Given the description of an element on the screen output the (x, y) to click on. 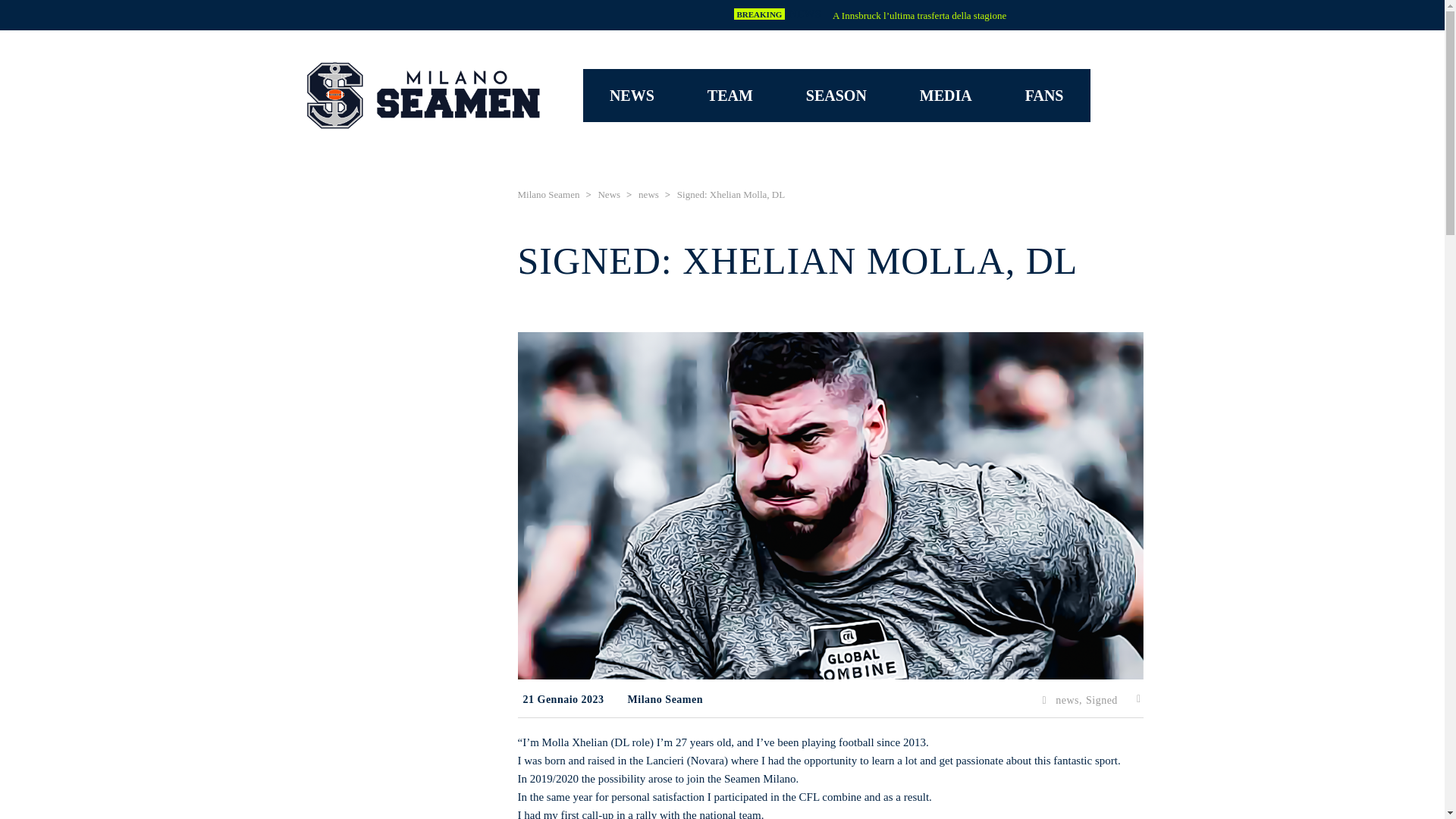
Go to the news Categoria archives. (649, 194)
NEWS (632, 95)
FANS (1044, 95)
Home (422, 95)
MEDIA (945, 95)
SEASON (835, 95)
Vai a News. (608, 194)
Vai a Milano Seamen. (547, 194)
TEAM (729, 95)
